Given the description of an element on the screen output the (x, y) to click on. 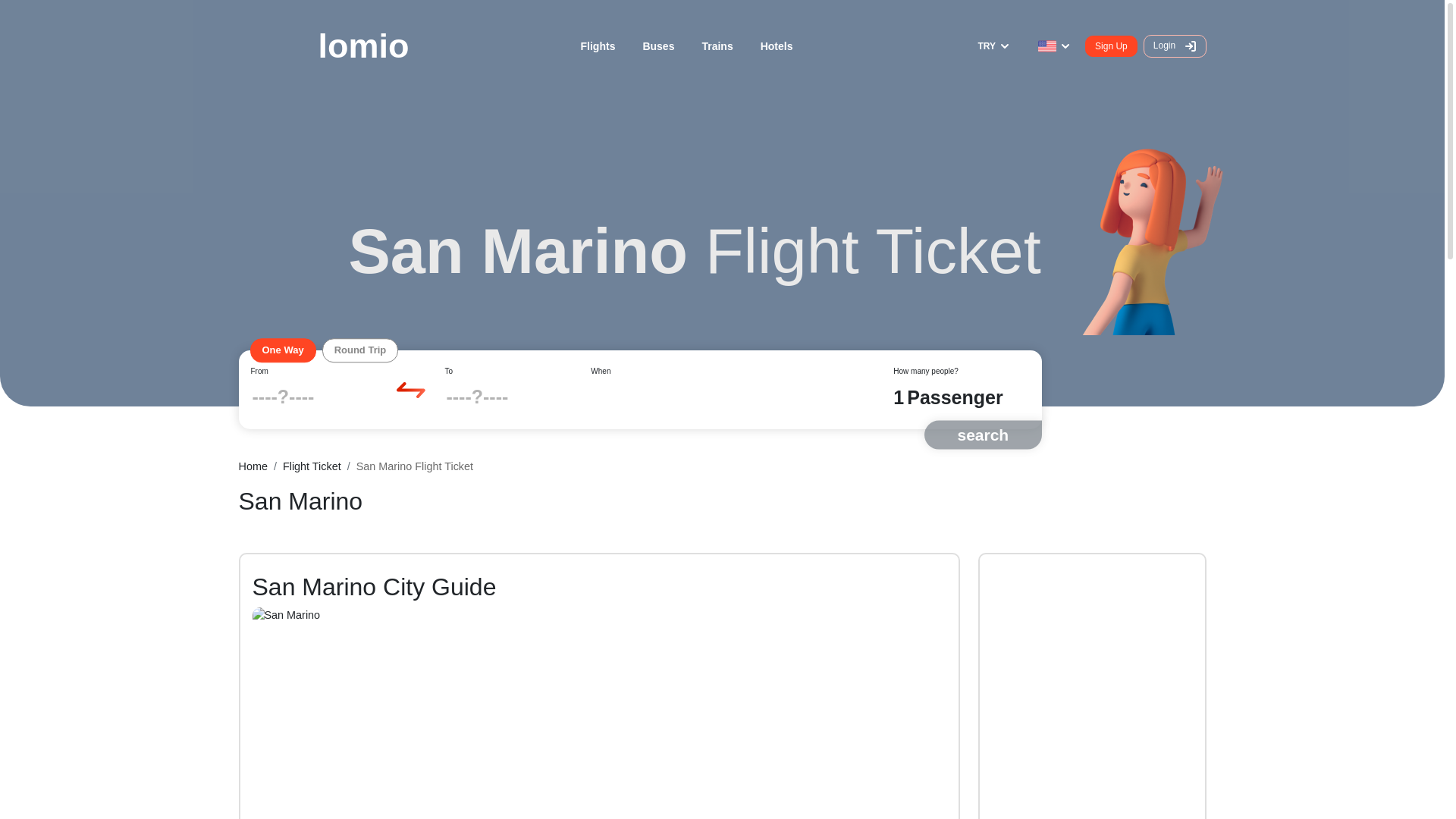
Login (1174, 46)
Hotels (776, 45)
Trains (716, 45)
Sign Up (1110, 46)
Flights (598, 45)
lomio (323, 46)
Buses (657, 45)
TRY (994, 45)
